Given the description of an element on the screen output the (x, y) to click on. 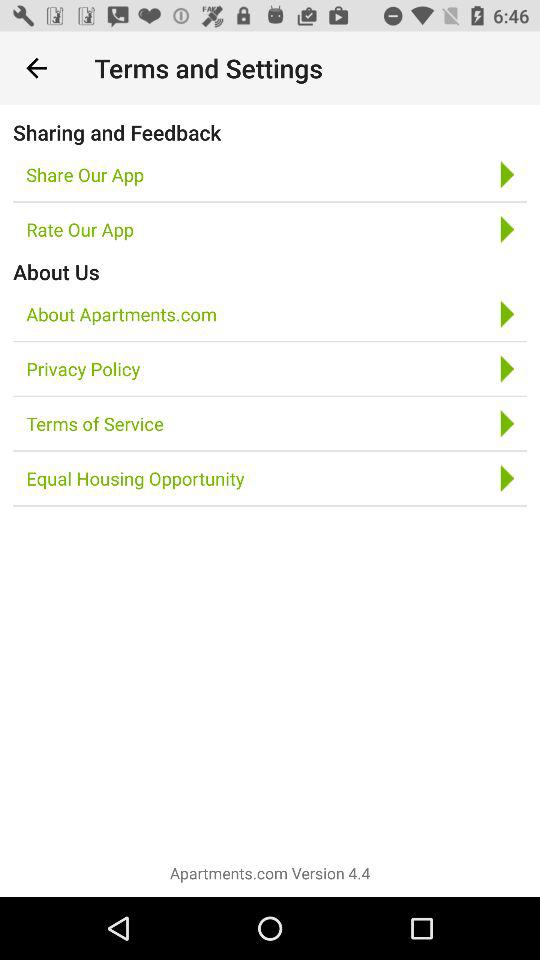
turn off icon above the equal housing opportunity icon (94, 423)
